Given the description of an element on the screen output the (x, y) to click on. 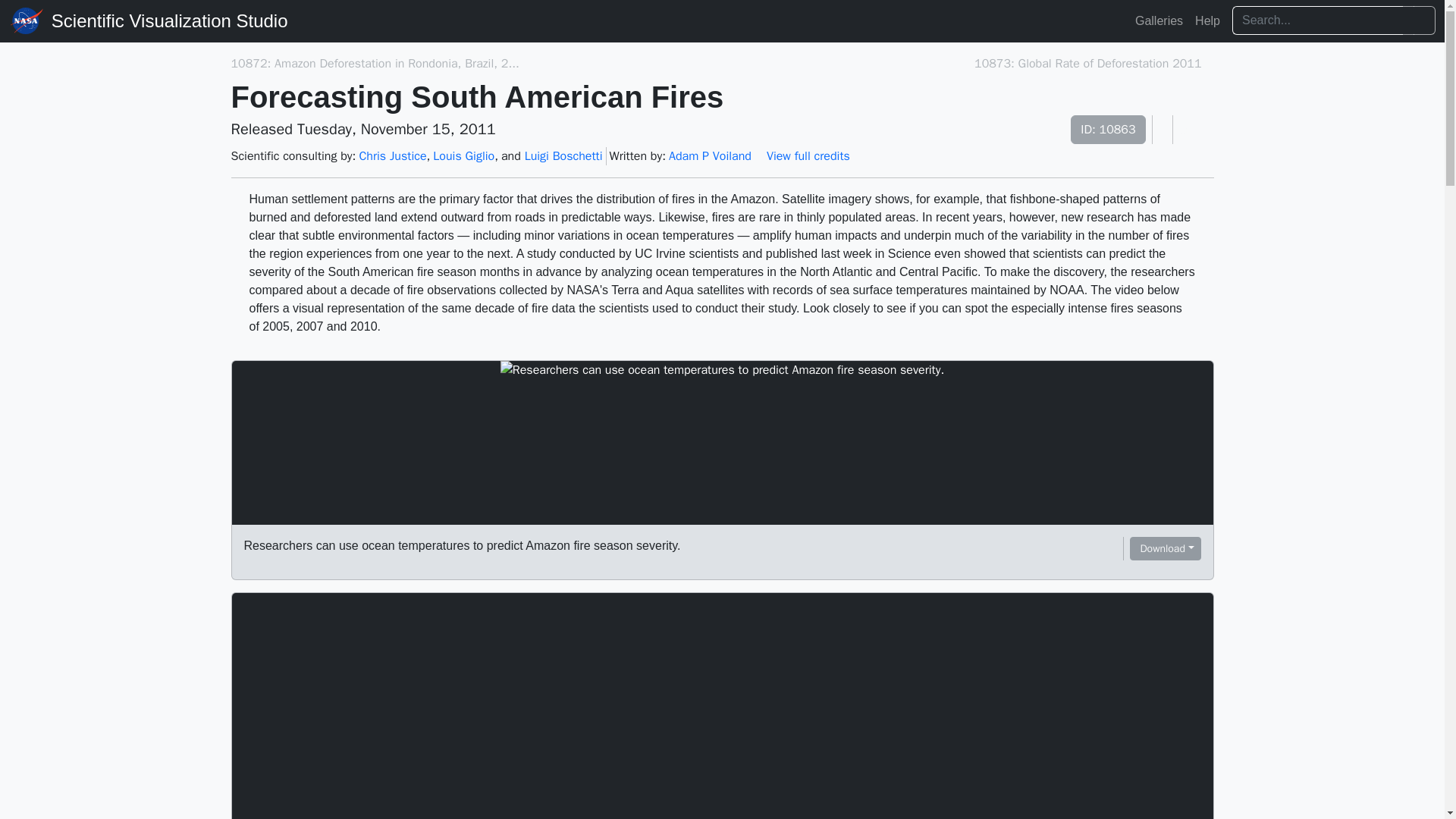
Copy a link to this media item (1113, 549)
10873: Global Rate of Deforestation 2011 (1087, 63)
Louis Giglio (463, 155)
Share this page on Twitter (1195, 130)
Share this page on Facebook (1208, 130)
View this page in our API (1162, 130)
Download (1164, 548)
Galleries (1159, 20)
View full credits (806, 156)
